Given the description of an element on the screen output the (x, y) to click on. 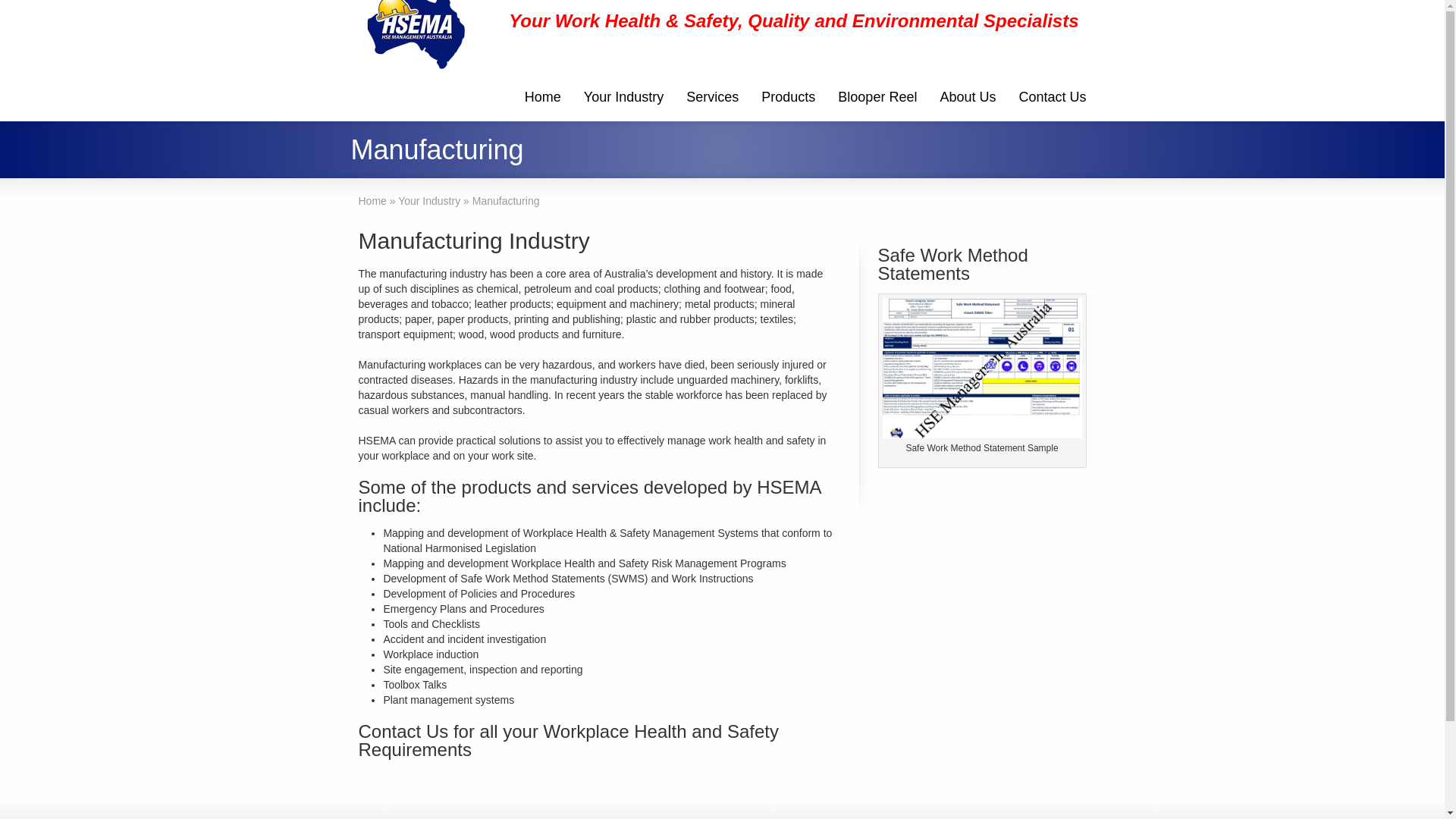
Products Element type: text (787, 98)
About Us Element type: text (967, 98)
Your Industry Element type: text (623, 98)
Contact Us Element type: text (402, 731)
Home Element type: text (542, 98)
Home Element type: text (371, 200)
Blooper Reel Element type: text (877, 98)
Contact Us Element type: text (1052, 98)
Your Industry Element type: text (429, 200)
Services Element type: text (711, 98)
